Given the description of an element on the screen output the (x, y) to click on. 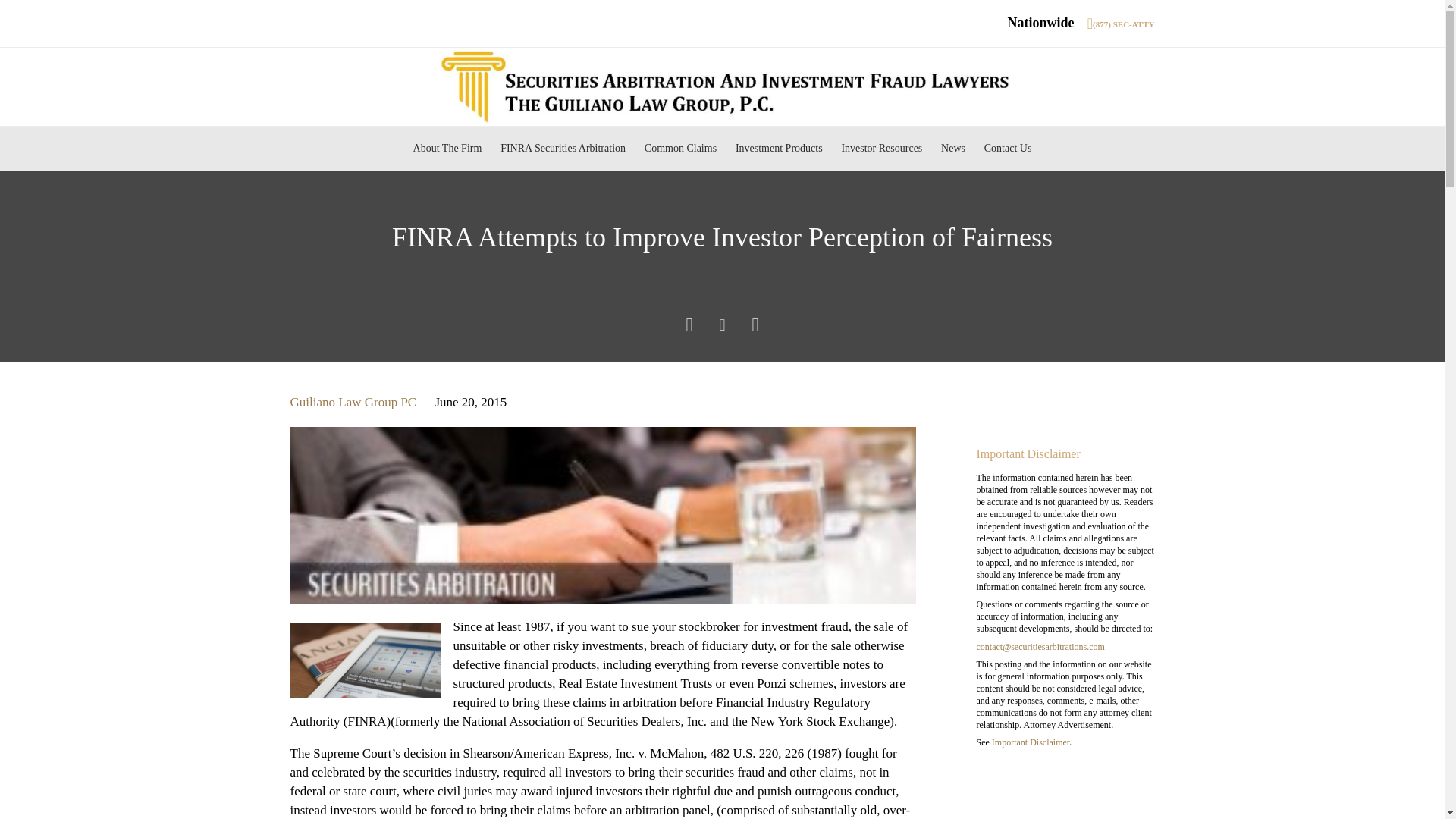
FINRA Securities Arbitration (563, 148)
Posts by Guiliano Law Group PC (352, 401)
About The Firm (446, 148)
Common Claims (679, 148)
